Given the description of an element on the screen output the (x, y) to click on. 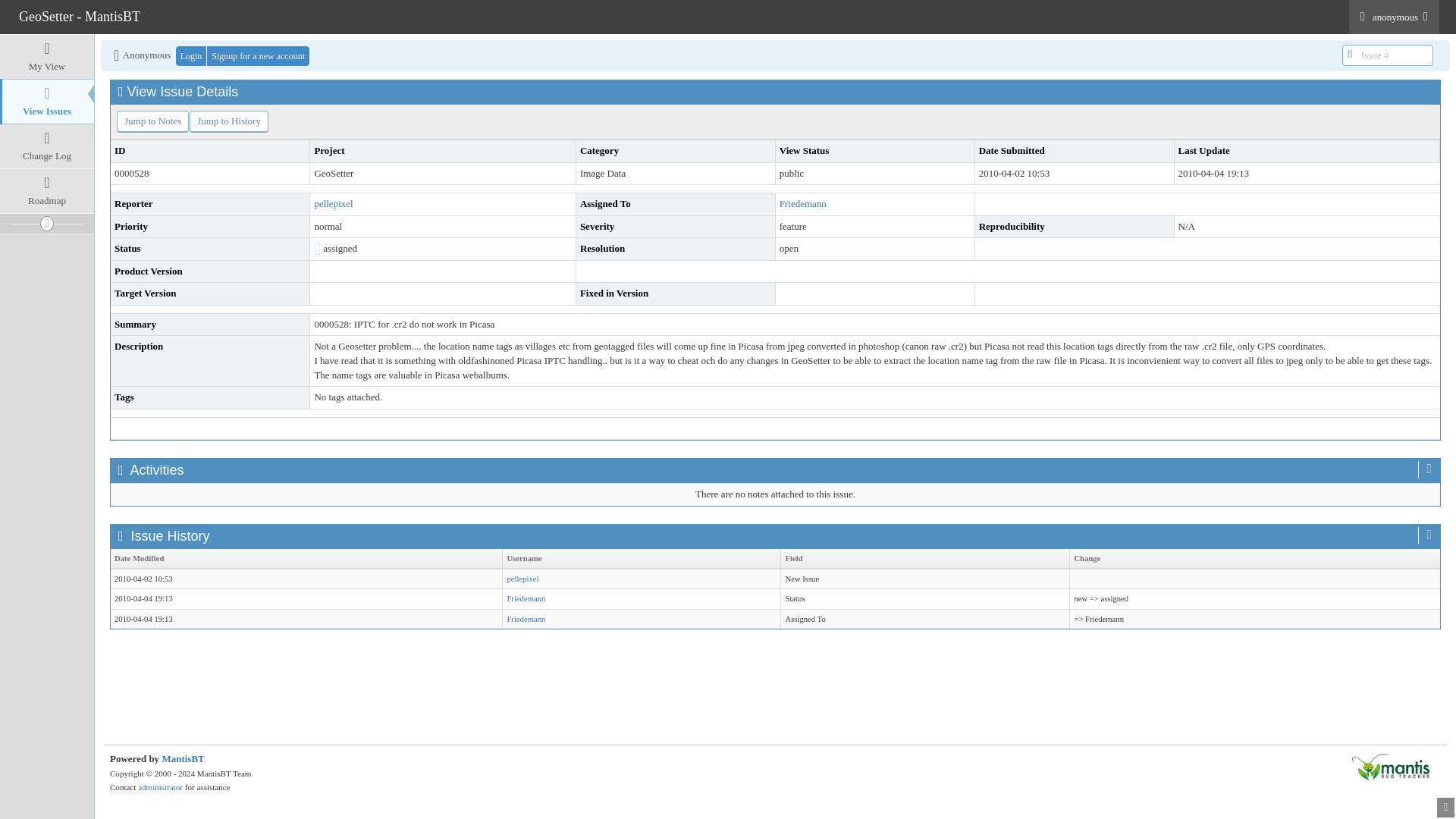
GeoSetter - MantisBT (79, 15)
pellepixel (522, 578)
View Issues (47, 101)
Friedemann (802, 203)
My View (47, 56)
Signup for a new account (257, 55)
Friedemann (525, 598)
Jump to History (228, 121)
Change Log (47, 146)
Friedemann (525, 619)
anonymous (1394, 17)
Jump to Notes (152, 121)
pellepixel (333, 203)
Login (191, 55)
Roadmap (47, 190)
